Given the description of an element on the screen output the (x, y) to click on. 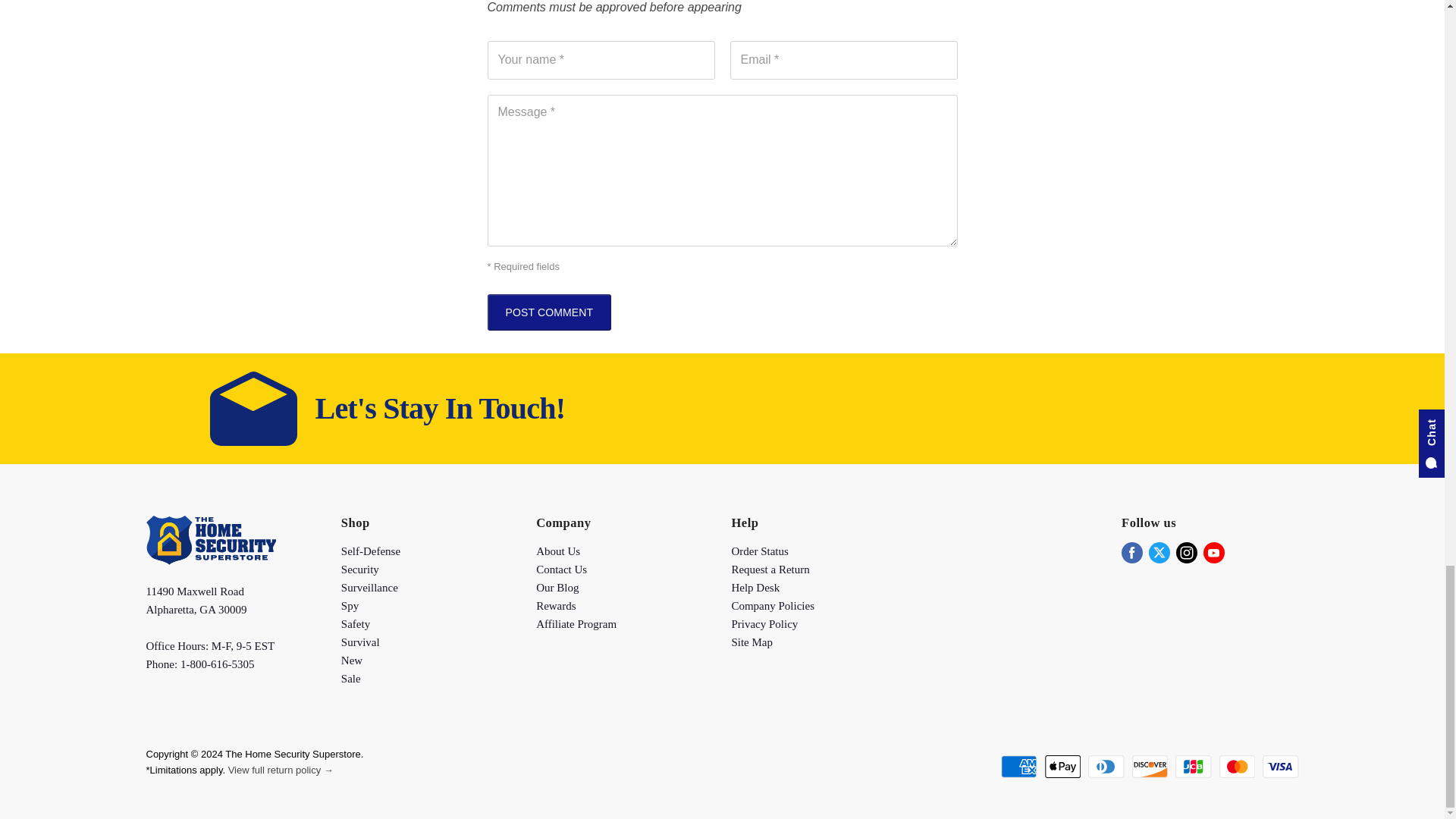
Youtube (1213, 552)
Twitter (1159, 552)
The Home Security Superstore (210, 561)
Instagram (1186, 552)
Facebook (1131, 552)
